Given the description of an element on the screen output the (x, y) to click on. 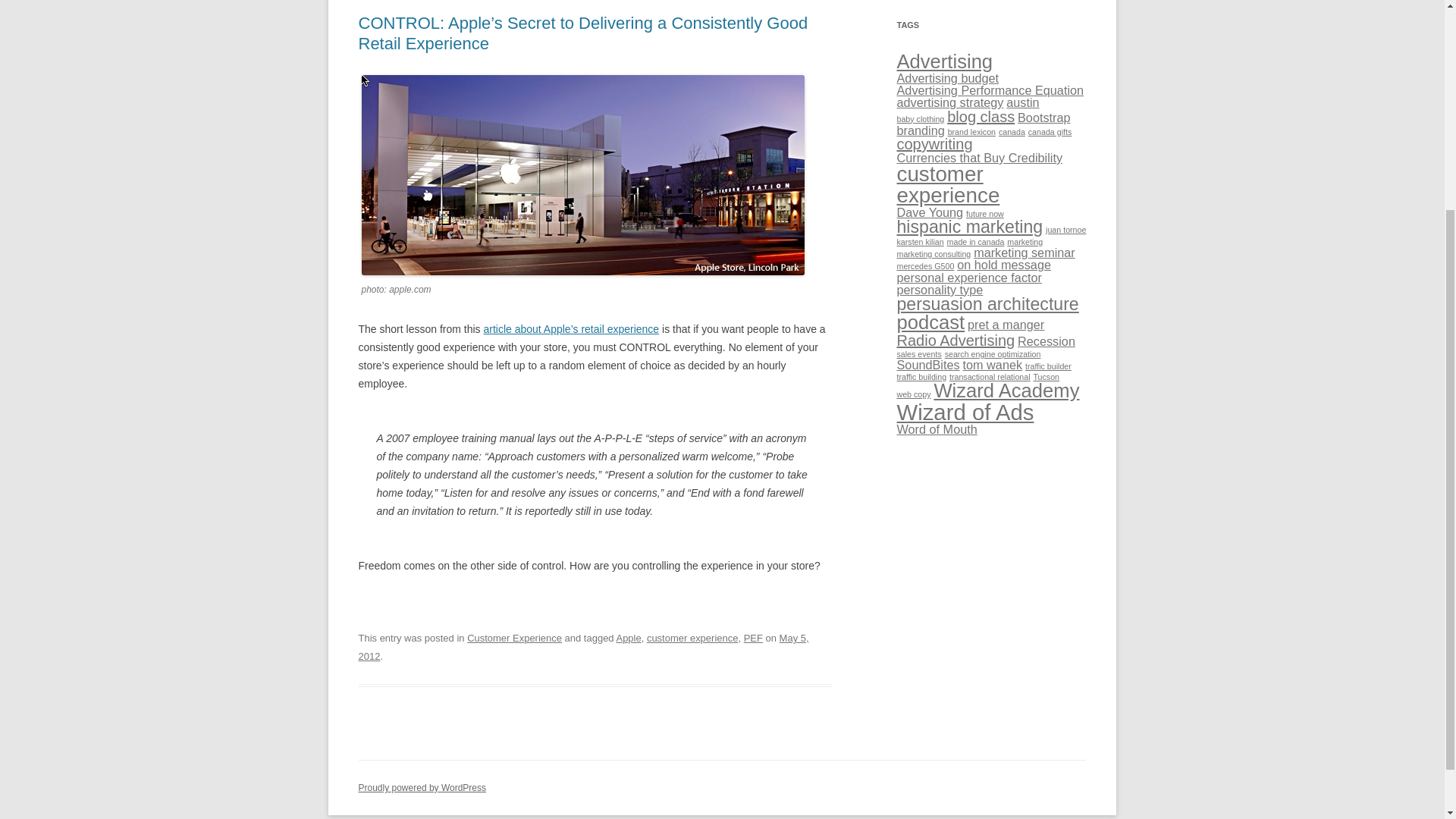
Customer Experience (514, 637)
karsten kilian (919, 241)
Advertising budget (947, 78)
Dave Young (929, 212)
marketing (1024, 241)
customer experience (692, 637)
advertising strategy (949, 101)
brand lexicon (971, 131)
Apple (627, 637)
made in canada (975, 241)
canada (1011, 131)
Advertising (944, 61)
canada gifts (1049, 131)
hispanic marketing (969, 226)
Advertising Performance Equation (989, 90)
